Given the description of an element on the screen output the (x, y) to click on. 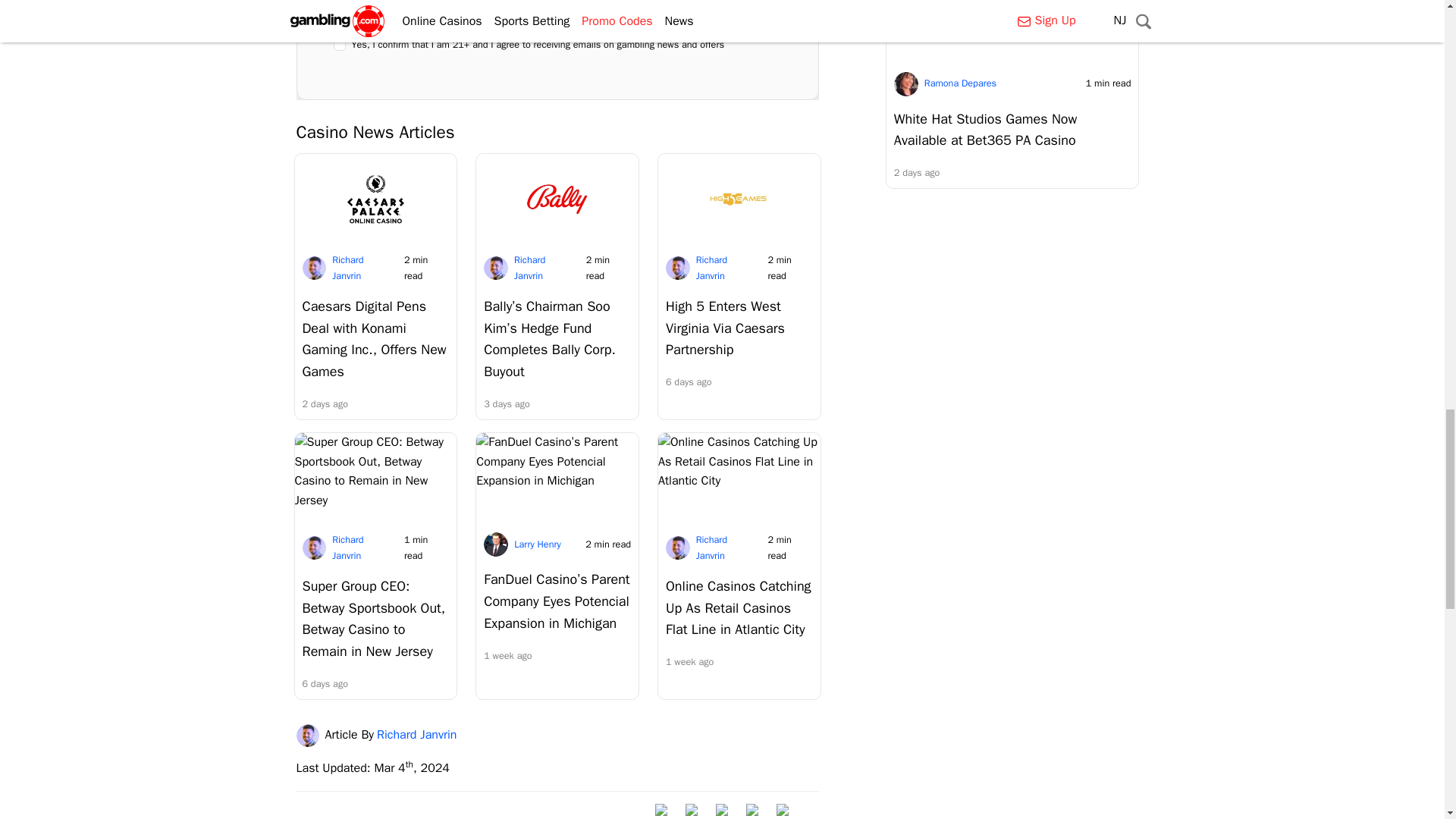
Richard Janvrin (346, 547)
Richard Janvrin (309, 734)
Ramona Depares (959, 82)
Richard Janvrin (346, 267)
Richard Janvrin (710, 547)
Richard Janvrin (528, 267)
Larry Henry (536, 544)
on (339, 44)
Richard Janvrin (710, 267)
